Given the description of an element on the screen output the (x, y) to click on. 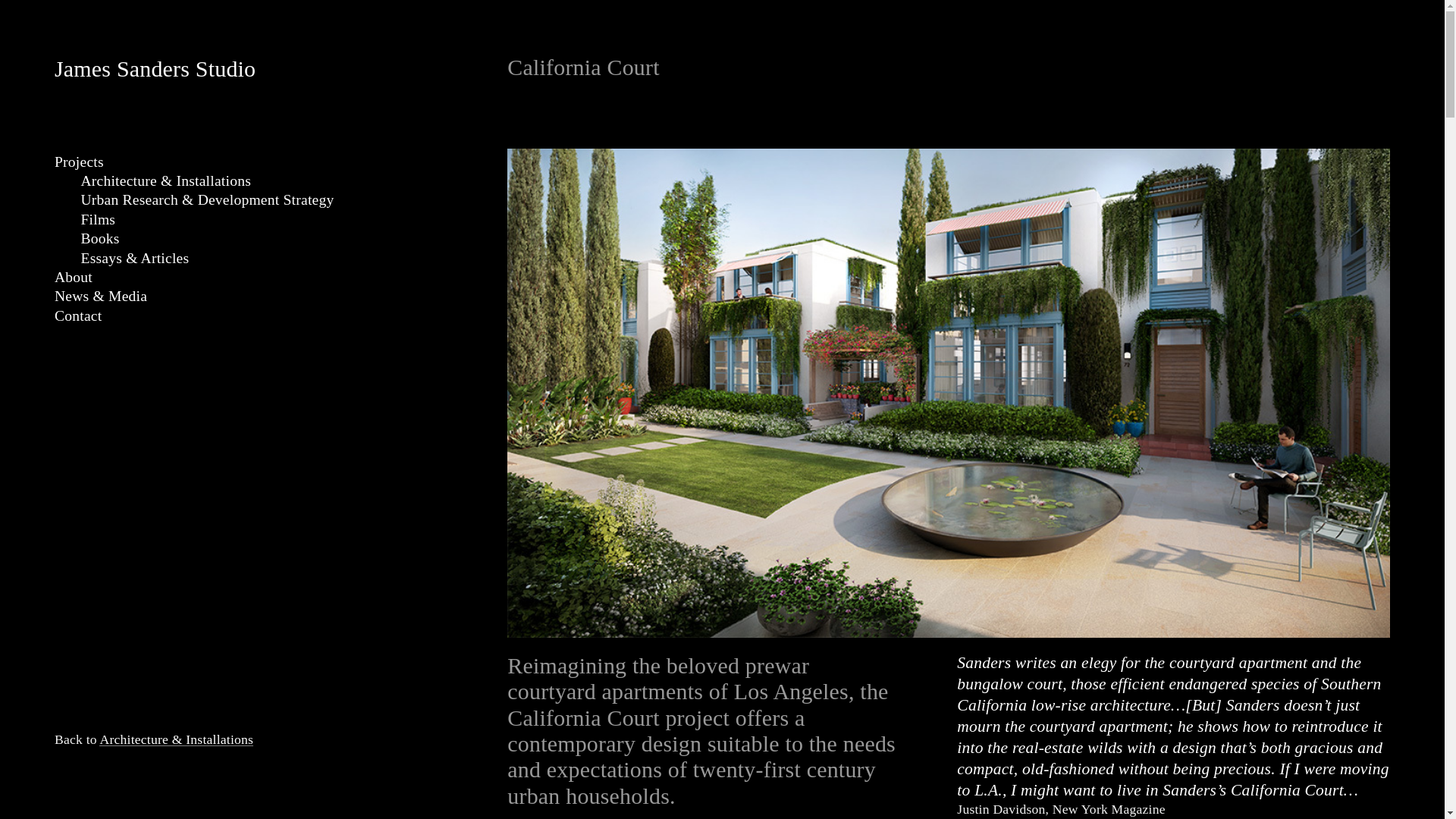
Films (97, 219)
Books (99, 238)
About (74, 277)
Contact (78, 315)
Projects (79, 161)
James Sanders Studio (155, 68)
